Given the description of an element on the screen output the (x, y) to click on. 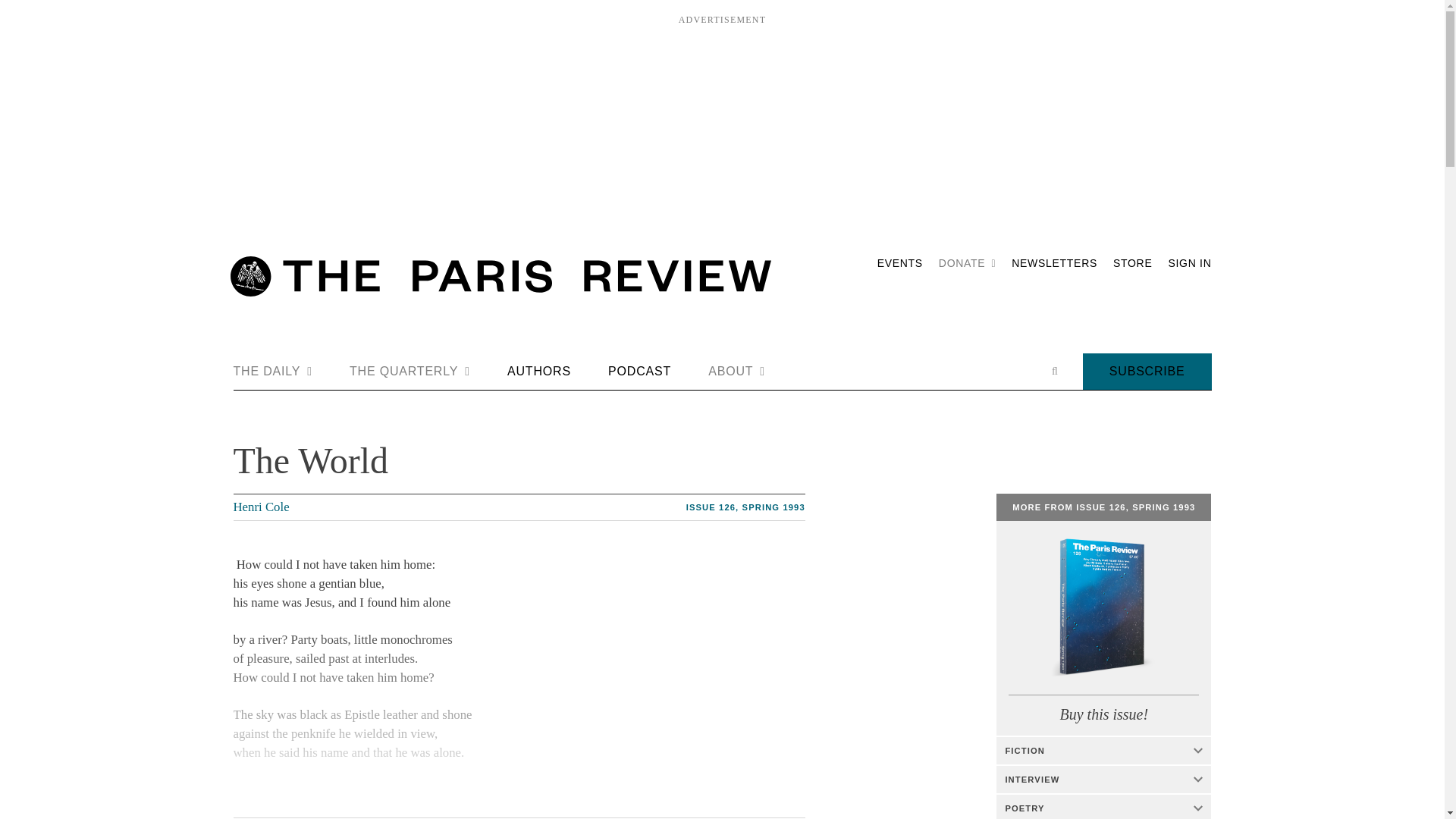
THE QUARTERLY (409, 371)
THE DAILY (272, 371)
Open search (1054, 371)
